Given the description of an element on the screen output the (x, y) to click on. 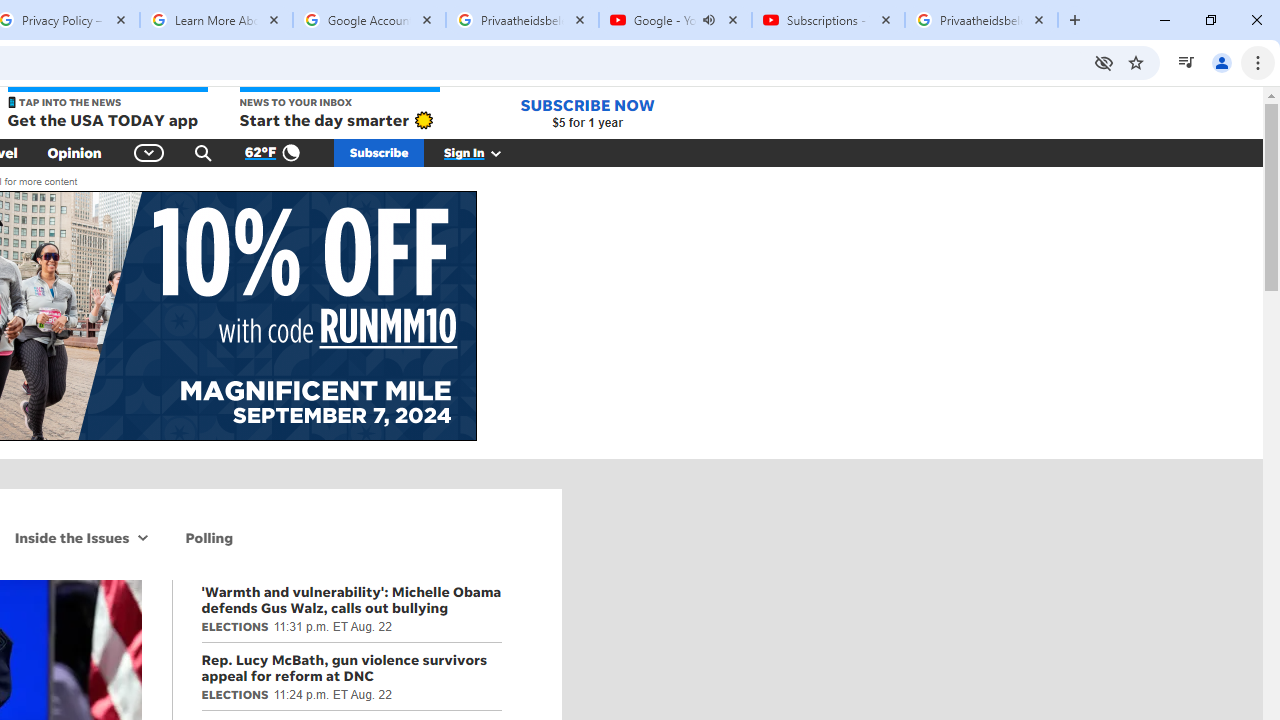
Google Account (369, 20)
Subscriptions - YouTube (827, 20)
Global Navigation (149, 152)
Sign In (483, 152)
SUBSCRIBE NOW $5 for 1 year (587, 112)
